Given the description of an element on the screen output the (x, y) to click on. 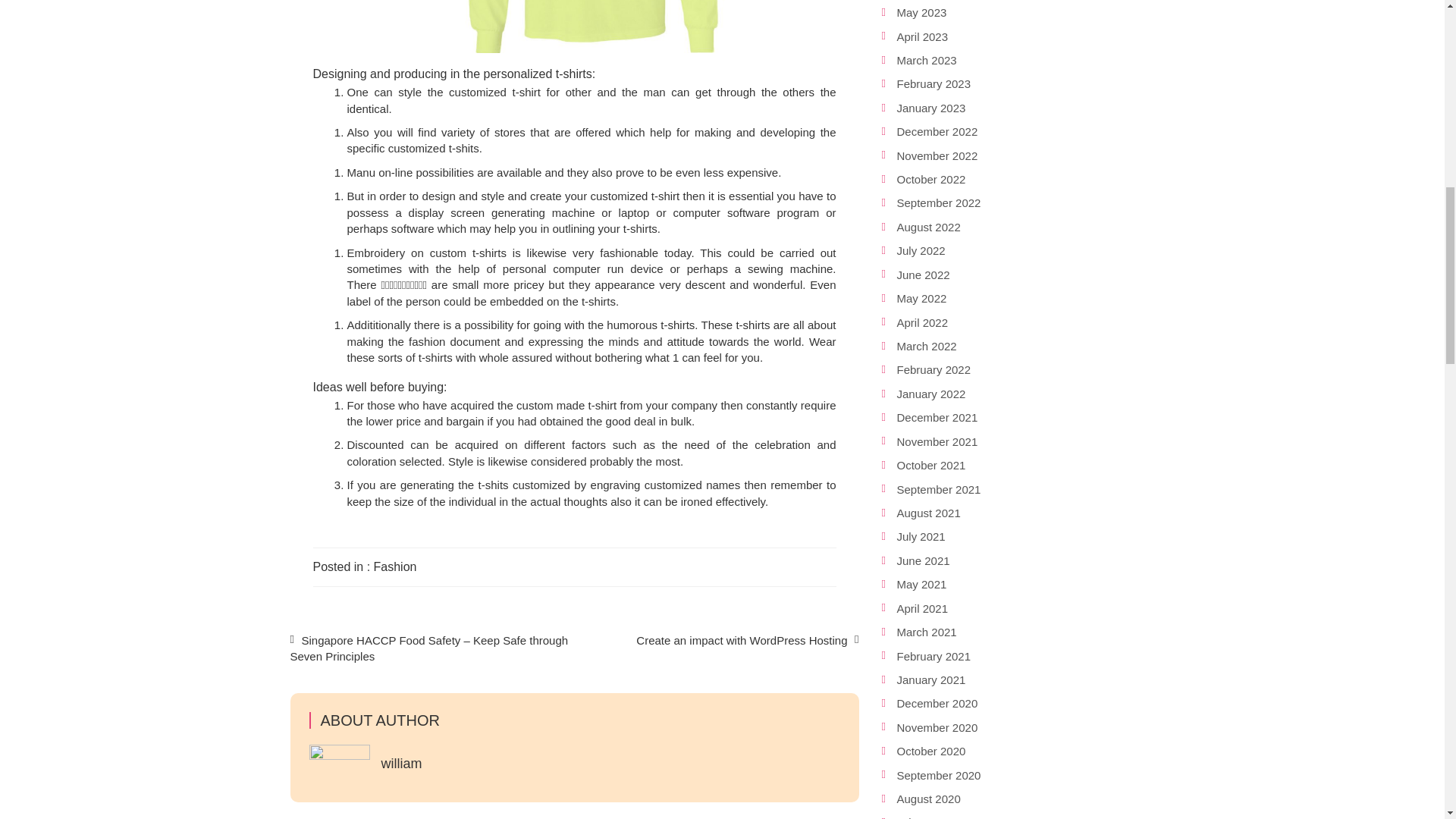
william (401, 763)
Create an impact with WordPress Hosting (741, 640)
Fashion (395, 566)
